Given the description of an element on the screen output the (x, y) to click on. 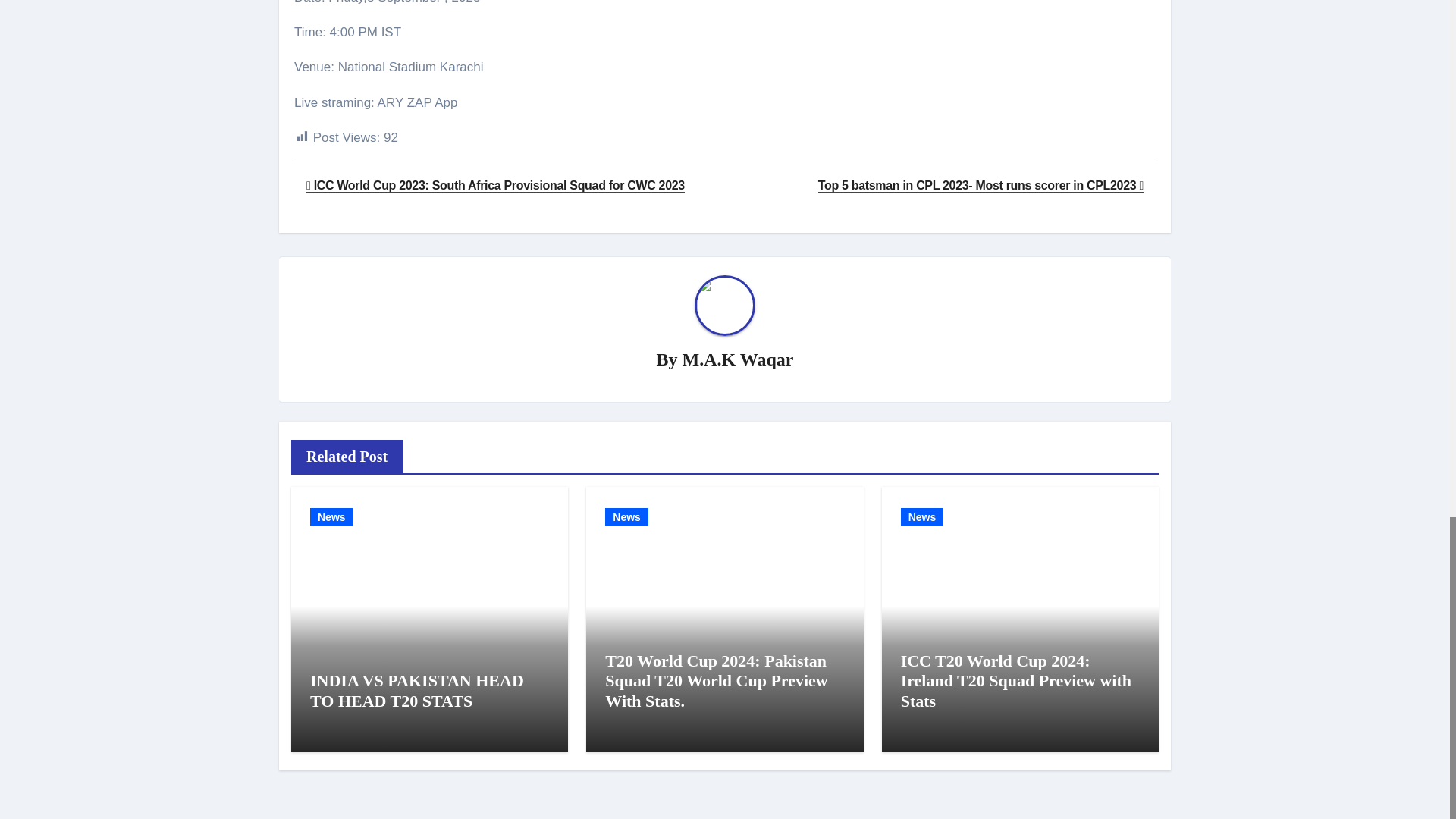
Top 5 batsman in CPL 2023- Most runs scorer in CPL2023 (980, 185)
News (922, 516)
INDIA VS PAKISTAN HEAD TO HEAD T20 STATS (417, 690)
News (626, 516)
ICC T20 World Cup 2024: Ireland T20 Squad Preview with Stats (1016, 680)
Permalink to: INDIA VS PAKISTAN  HEAD TO HEAD  T20 STATS (417, 690)
News (331, 516)
